Given the description of an element on the screen output the (x, y) to click on. 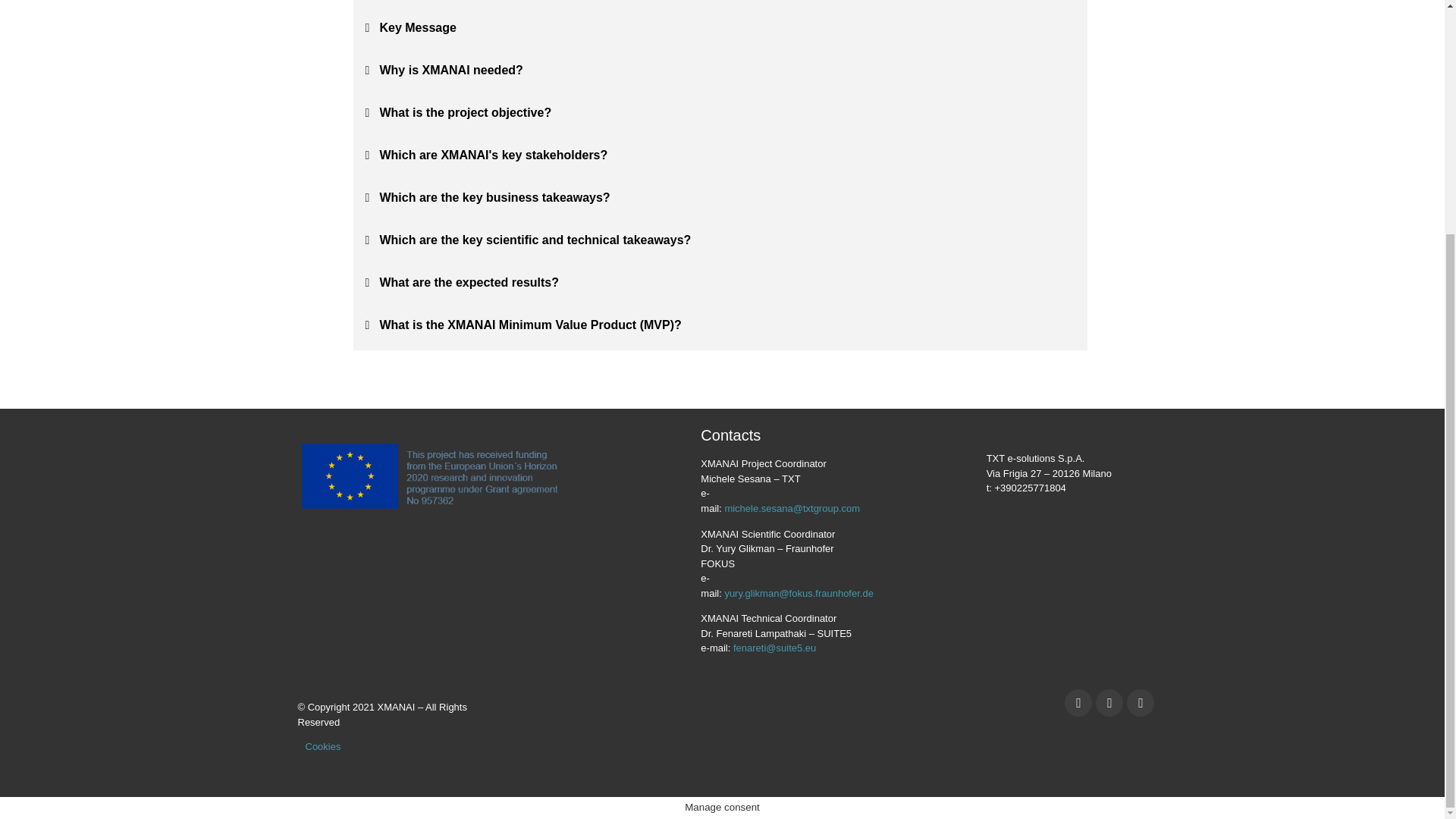
Key Message (416, 27)
Why is XMANAI needed? (450, 69)
Which are XMANAI's key stakeholders? (492, 154)
What is the project objective? (464, 112)
